Given the description of an element on the screen output the (x, y) to click on. 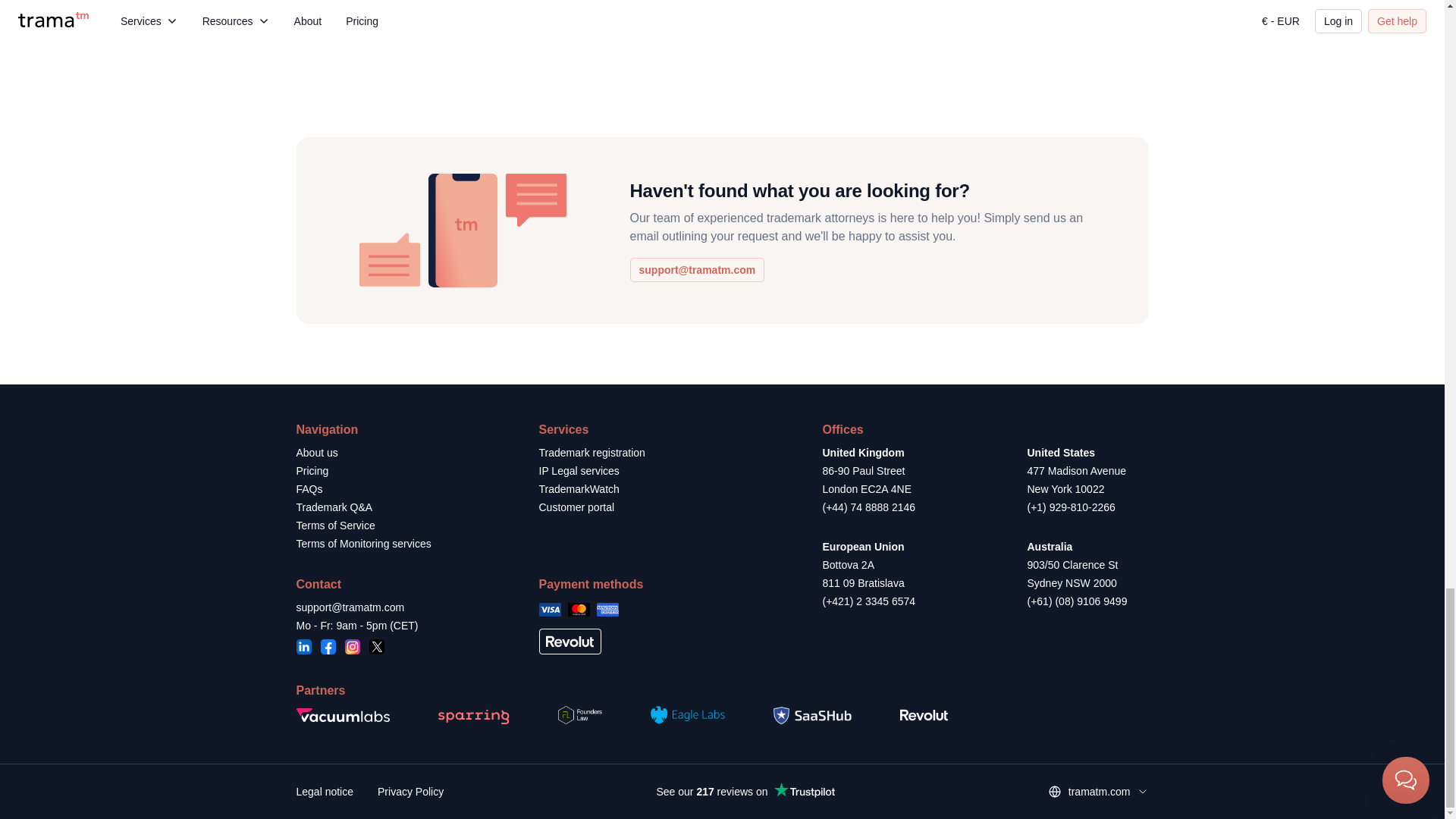
Customer reviews powered by Trustpilot (745, 791)
